Given the description of an element on the screen output the (x, y) to click on. 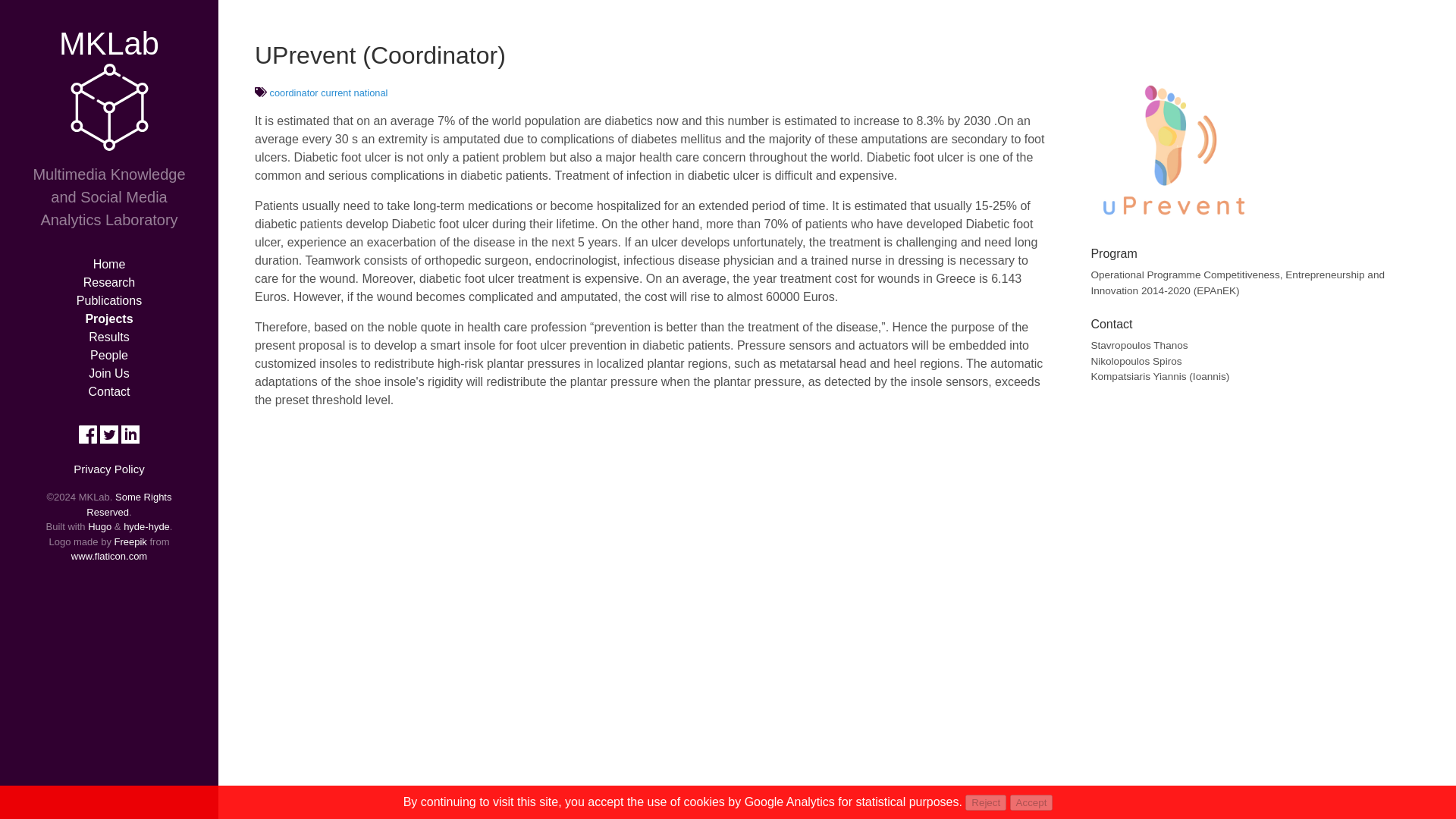
Results (108, 336)
national (370, 92)
Home (109, 264)
current (335, 92)
Join Us (108, 373)
Projects (108, 318)
Contact (108, 391)
MKLab (108, 43)
Publications (109, 300)
Research (108, 282)
